Given the description of an element on the screen output the (x, y) to click on. 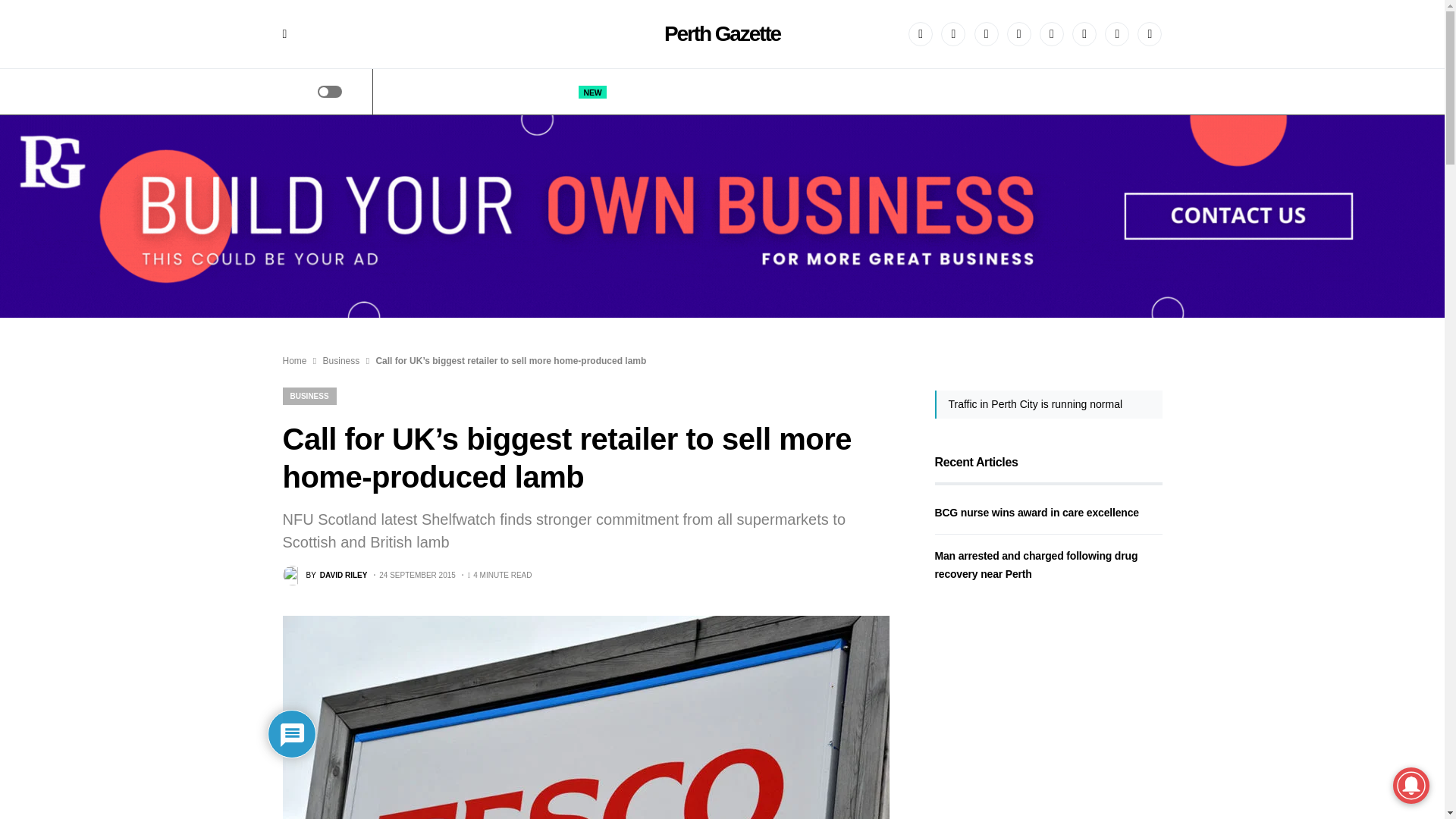
Community (750, 91)
NewsDesk (882, 91)
Perth Gazette (721, 33)
Events NEW (573, 91)
Business (817, 91)
View all posts by David Riley (324, 575)
